Given the description of an element on the screen output the (x, y) to click on. 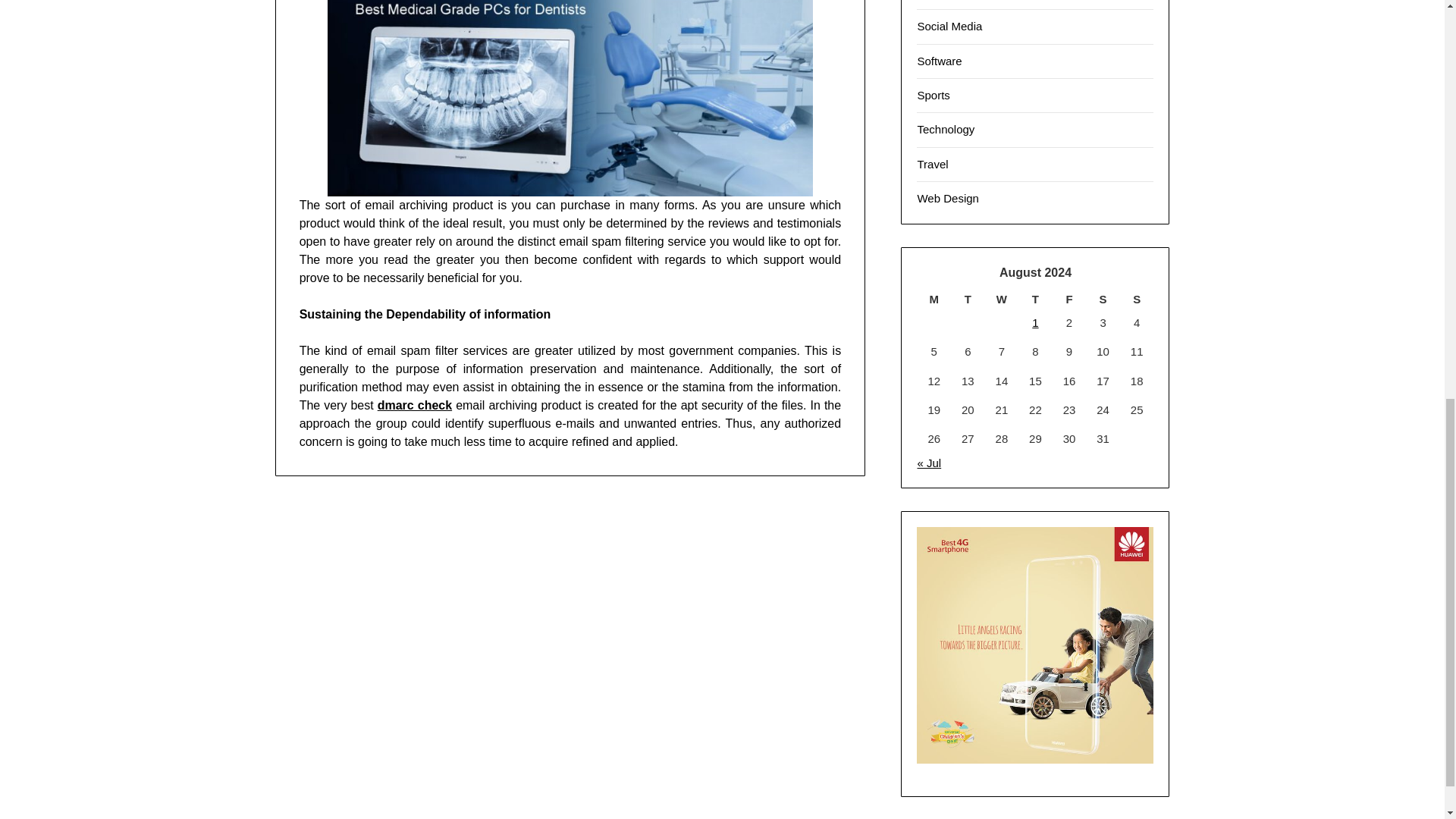
Sunday (1136, 298)
Software (938, 60)
dmarc check (414, 404)
Thursday (1034, 298)
Sports (933, 94)
Wednesday (1002, 298)
Tuesday (967, 298)
Friday (1069, 298)
Web Design (947, 197)
Social Media (949, 25)
Monday (933, 298)
Technology (945, 128)
Travel (932, 164)
Saturday (1102, 298)
